Given the description of an element on the screen output the (x, y) to click on. 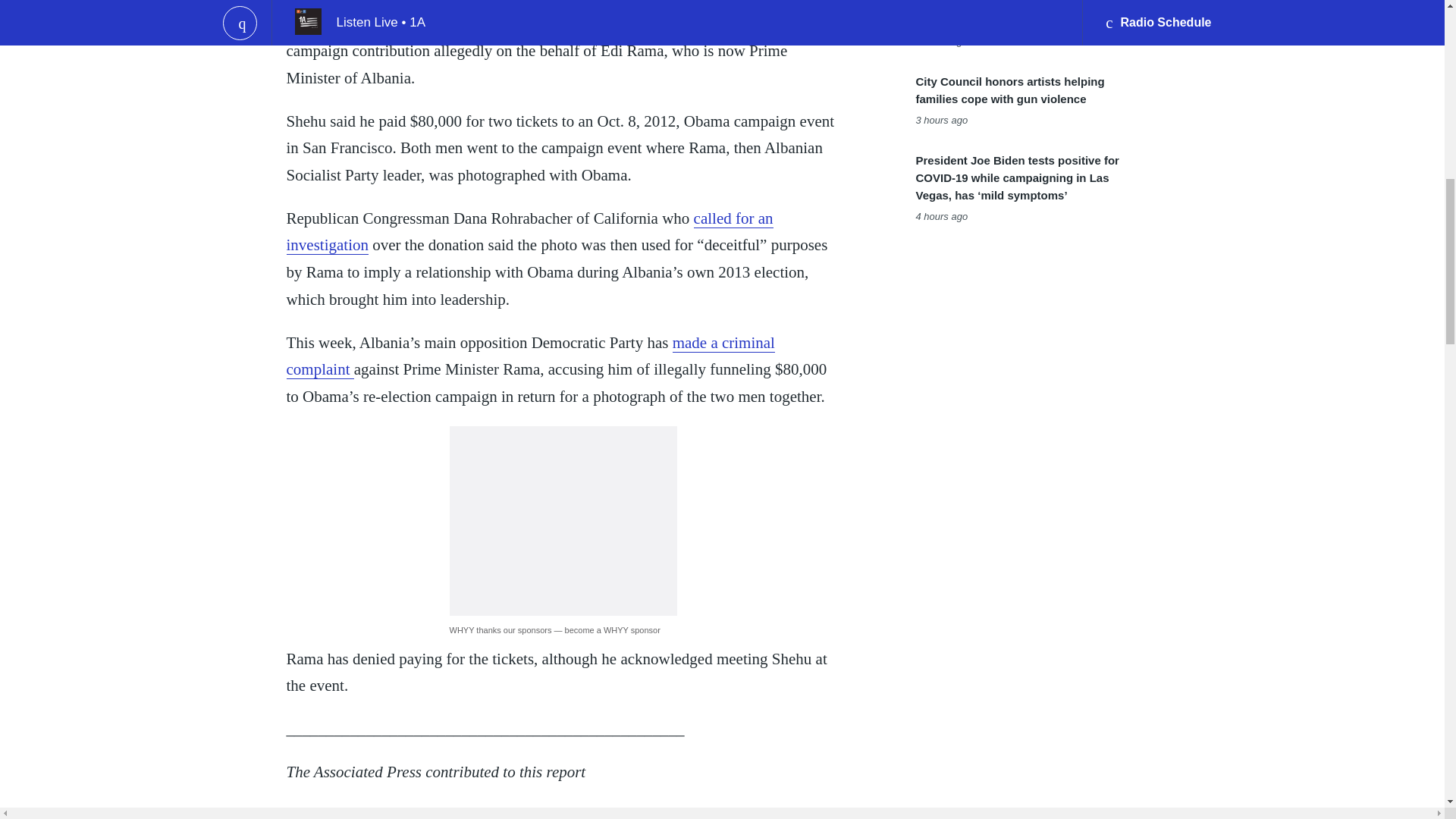
Email (418, 813)
Facebook (357, 813)
Twitter (387, 813)
3rd party ad content (562, 520)
